Given the description of an element on the screen output the (x, y) to click on. 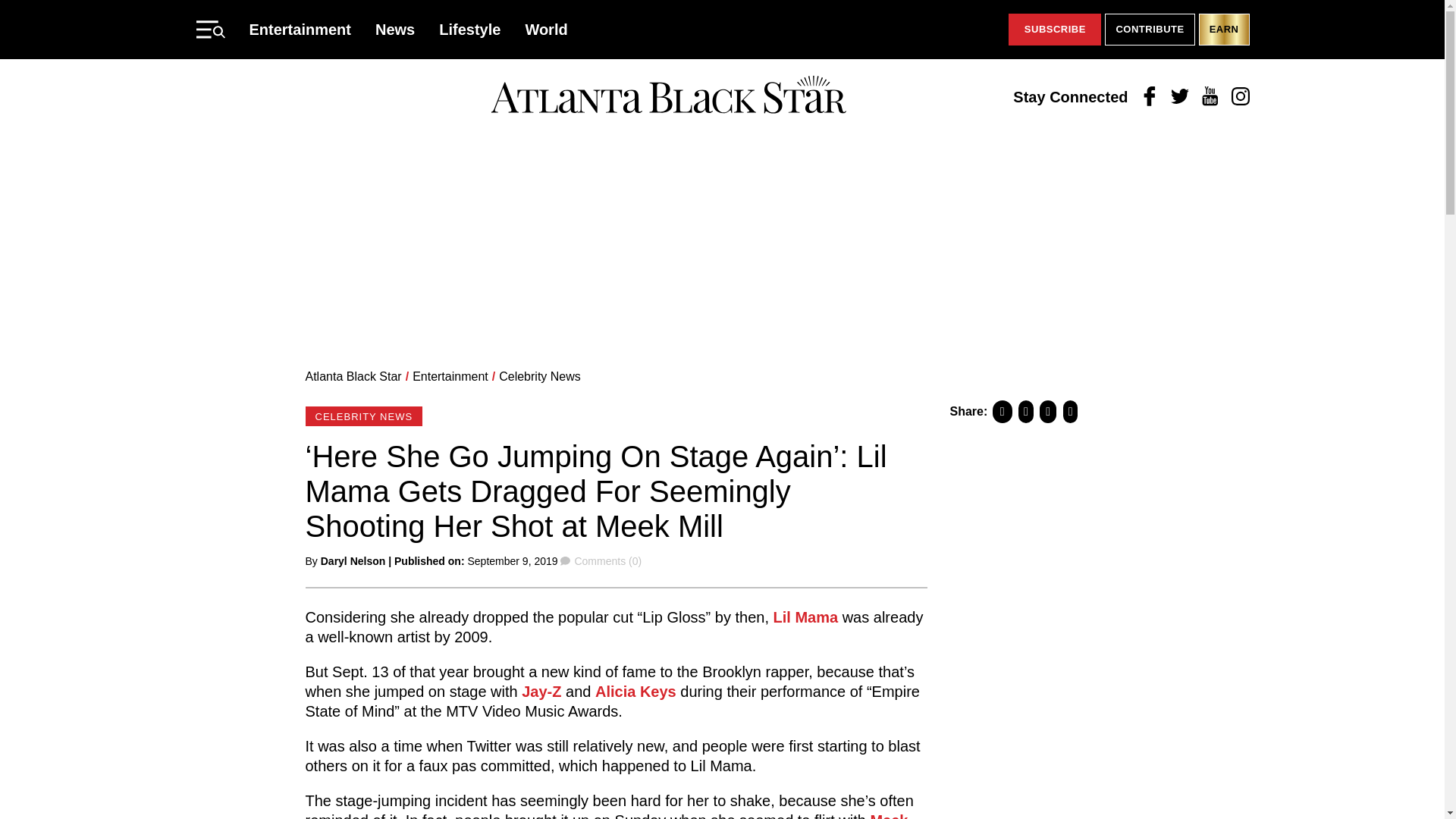
CONTRIBUTE (1149, 29)
Entertainment (299, 29)
Lifestyle (469, 29)
Entertainment (449, 376)
EARN (1223, 29)
SUBSCRIBE (1054, 29)
World (545, 29)
Atlanta Black Star (352, 376)
Atlanta Black Star (667, 96)
News (394, 29)
Go to Atlanta Black Star. (352, 376)
Go to the Celebrity News Category archives. (539, 376)
Go to the Entertainment Category archives. (449, 376)
